Given the description of an element on the screen output the (x, y) to click on. 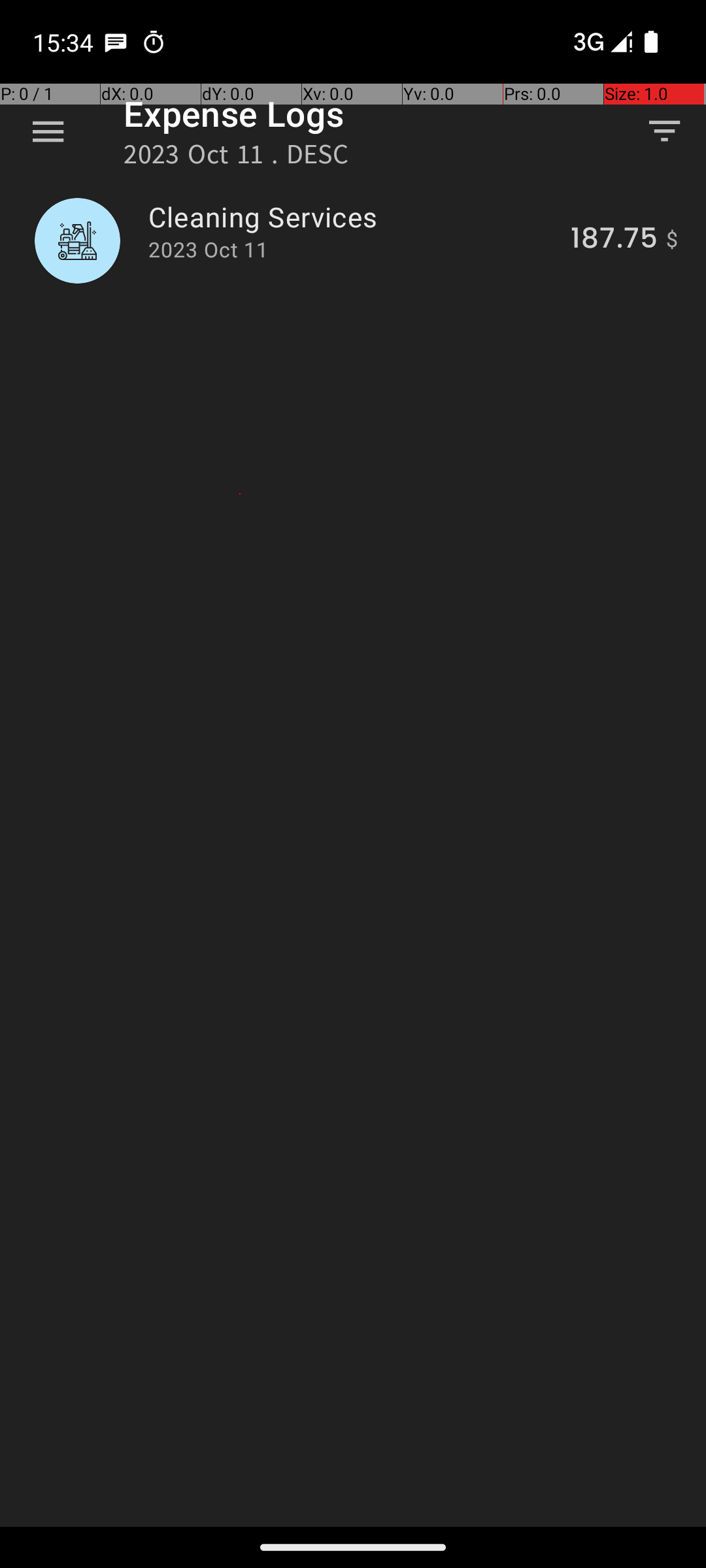
2023 Oct 11 . DESC Element type: android.widget.TextView (236, 157)
187.75 Element type: android.widget.TextView (614, 240)
